Given the description of an element on the screen output the (x, y) to click on. 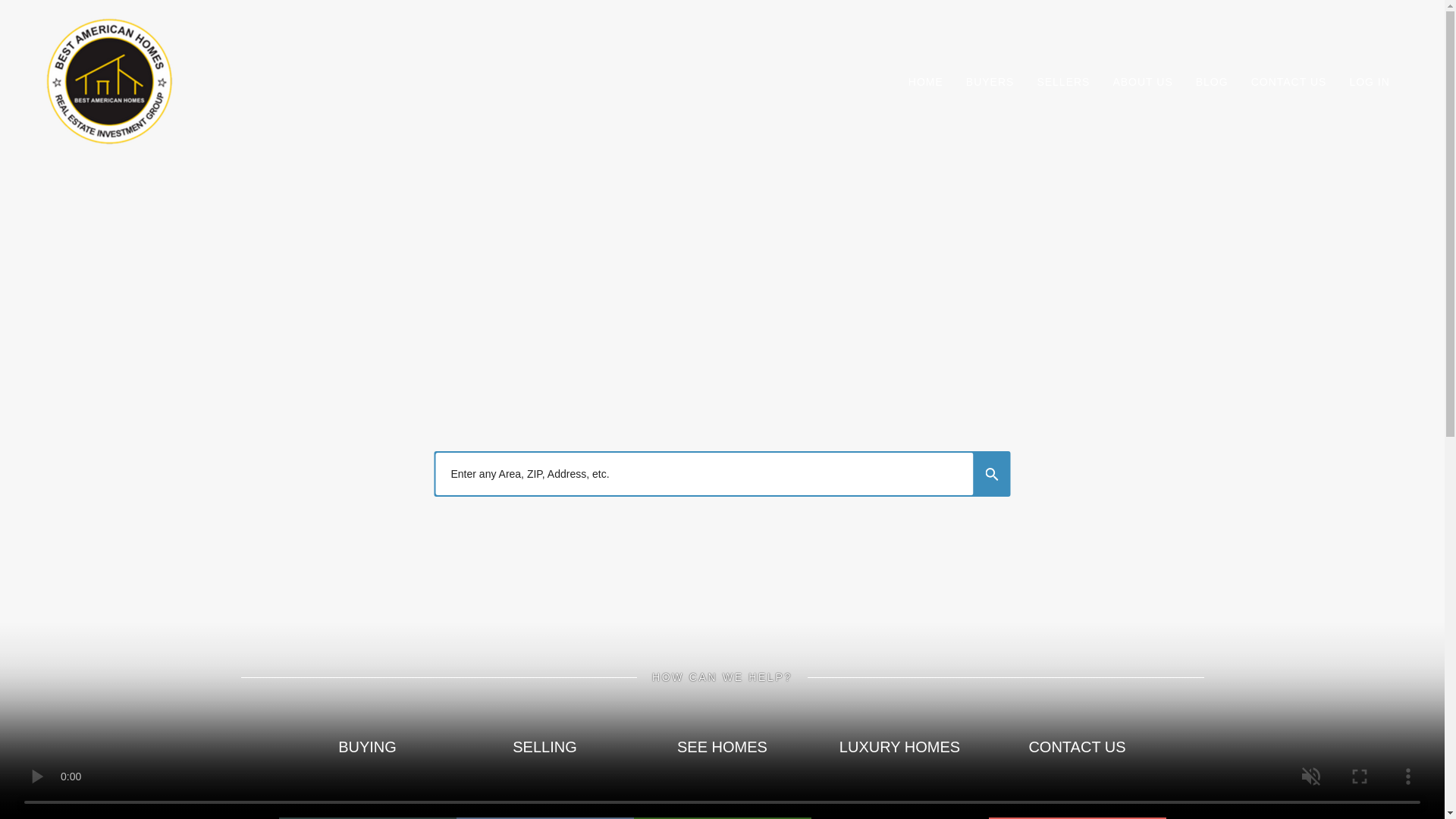
BUYING (368, 751)
BUYERS (990, 81)
LOG IN (1369, 81)
SEE HOMES (721, 751)
SELLERS (1062, 81)
CONTACT US (1288, 81)
SELLING (545, 751)
BLOG (1211, 81)
CONTACT US (1077, 751)
LUXURY HOMES (899, 751)
